Given the description of an element on the screen output the (x, y) to click on. 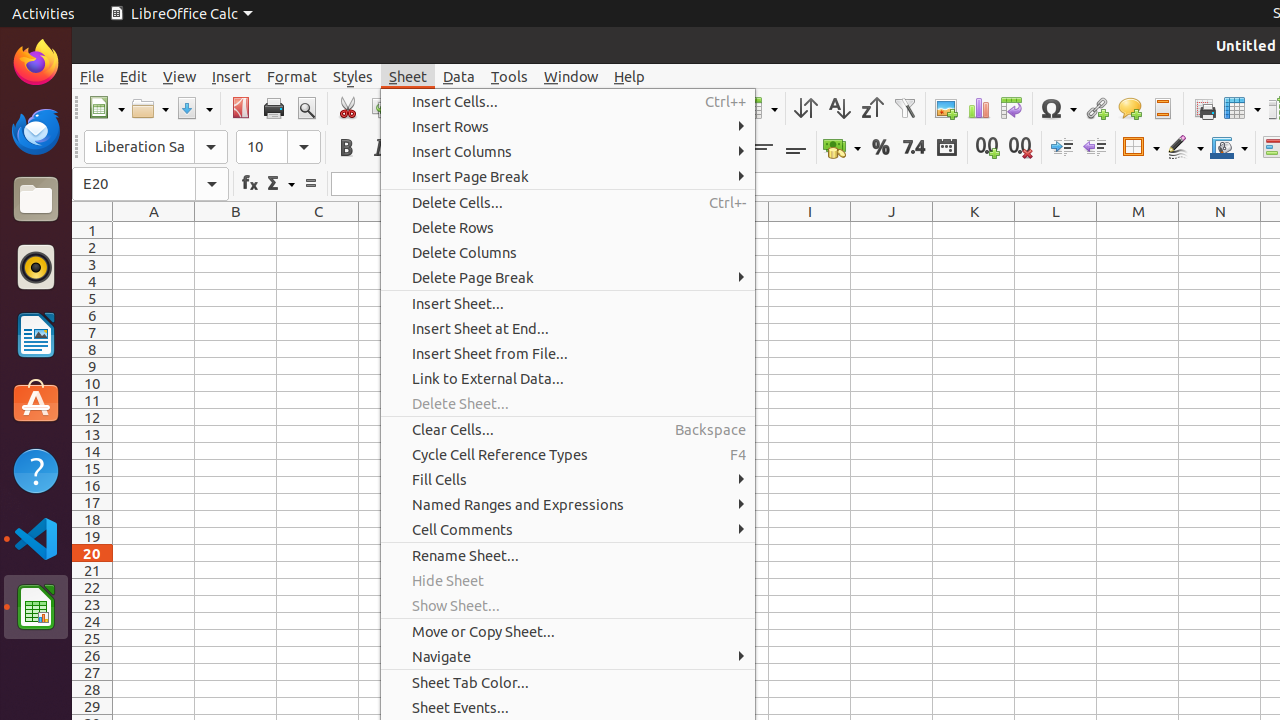
N1 Element type: table-cell (1220, 230)
C1 Element type: table-cell (318, 230)
File Element type: menu (92, 76)
Border Color Element type: push-button (1229, 147)
J1 Element type: table-cell (892, 230)
